Given the description of an element on the screen output the (x, y) to click on. 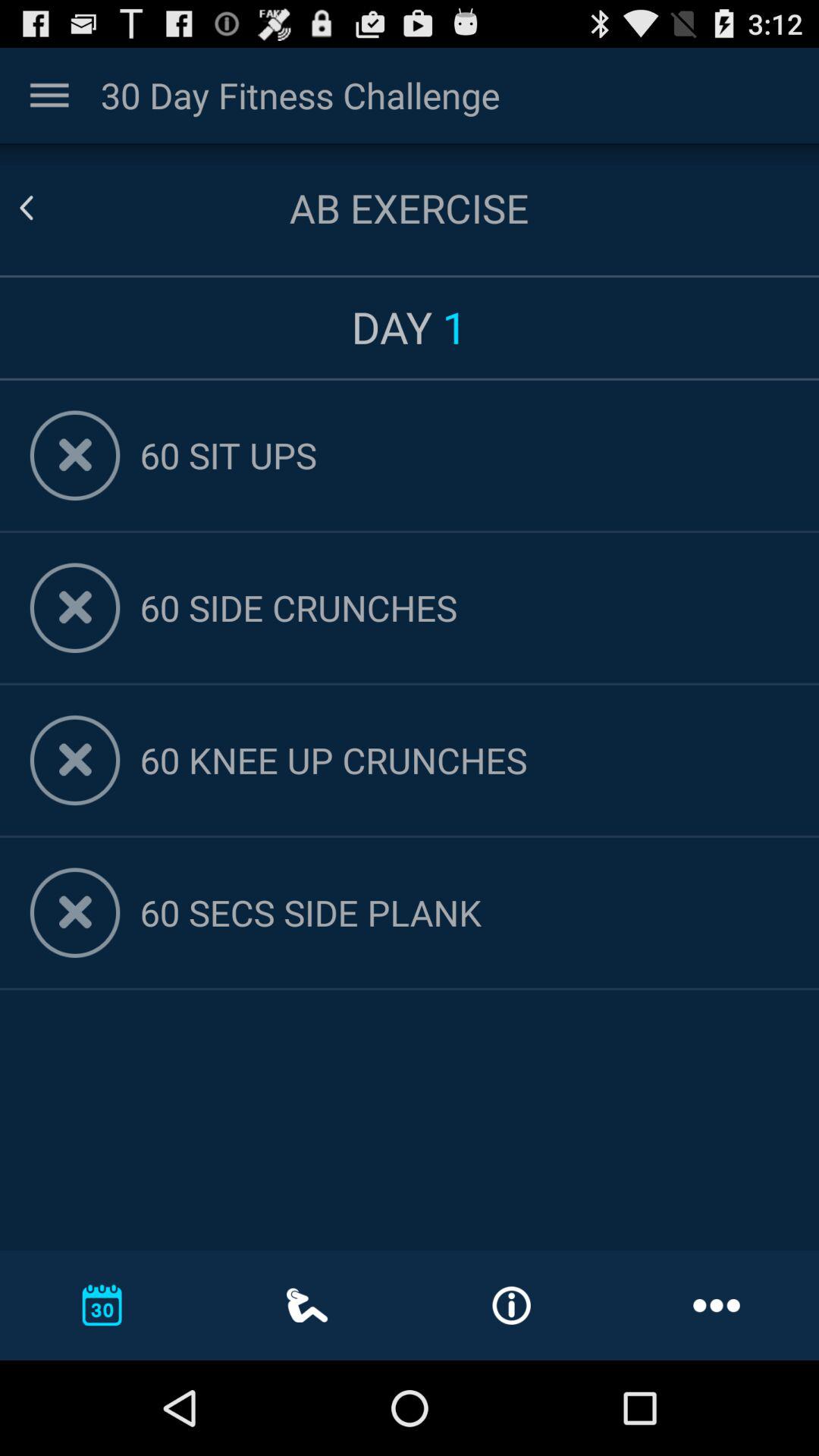
remove from list (75, 455)
